Given the description of an element on the screen output the (x, y) to click on. 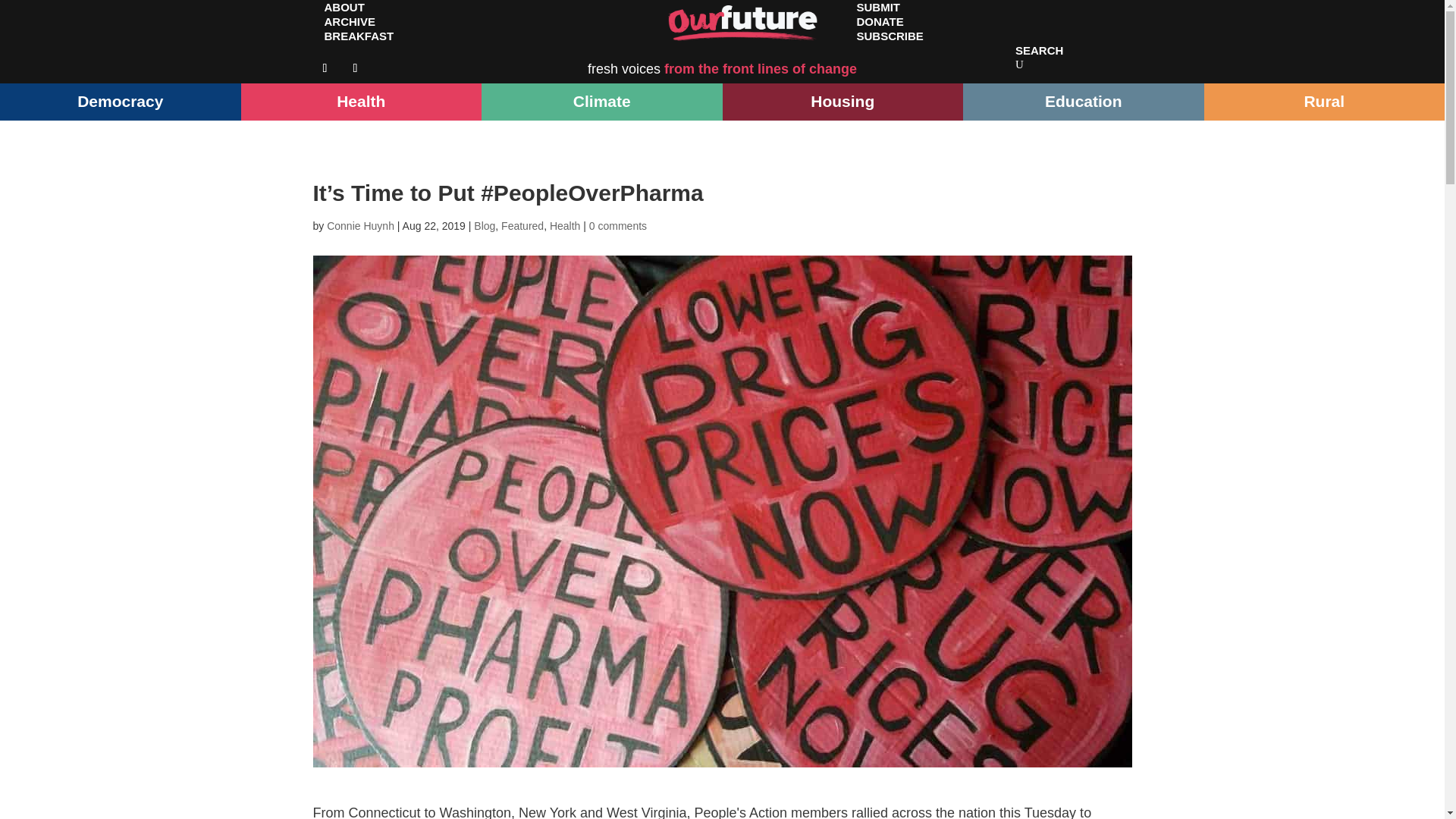
Featured (521, 225)
ABOUT (344, 13)
ARCHIVE (350, 21)
Posts by Connie Huynh (360, 225)
SUBSCRIBE (889, 35)
SEARCH (1039, 50)
Follow on X (354, 68)
0 comments (617, 225)
Connie Huynh (360, 225)
DONATE (879, 21)
Follow on Facebook (324, 68)
Health (564, 225)
Blog (484, 225)
BREAKFAST (358, 35)
SUBMIT (877, 13)
